Given the description of an element on the screen output the (x, y) to click on. 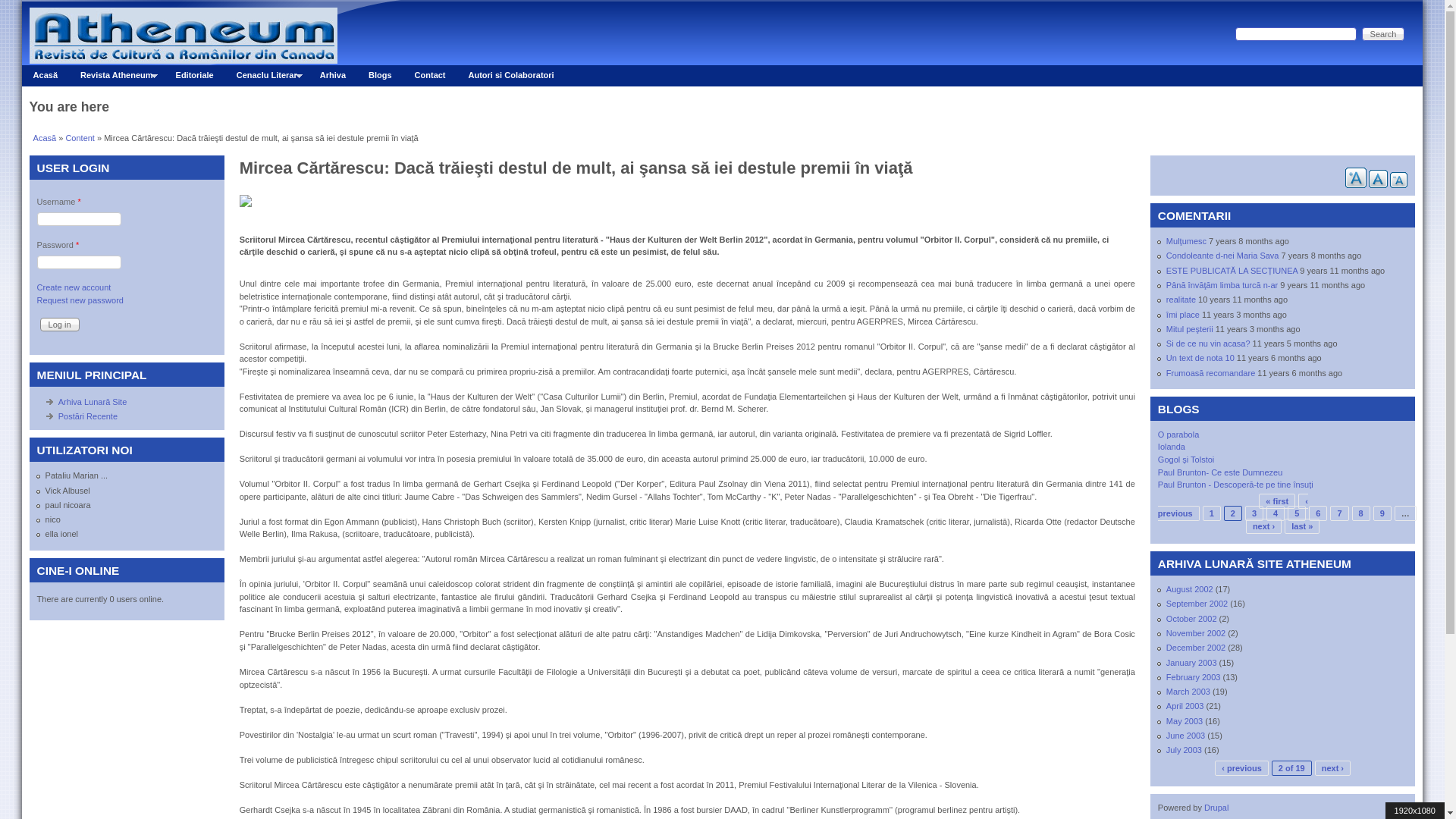
A Element type: text (1377, 178)
June 2003 Element type: text (1185, 735)
Search Element type: text (1383, 33)
December 2002 Element type: text (1195, 647)
October 2002 Element type: text (1191, 618)
6 Element type: text (1317, 512)
1 Element type: text (1211, 512)
Content Element type: text (79, 137)
Enter the terms you wish to search for. Element type: hover (1294, 33)
February 2003 Element type: text (1193, 676)
May 2003 Element type: text (1184, 720)
November 2002 Element type: text (1195, 632)
Arhiva Element type: text (332, 75)
Create new account Element type: text (74, 286)
Log in Element type: text (59, 324)
9 Element type: text (1382, 512)
O parabola Element type: text (1177, 434)
Iolanda Element type: text (1171, 446)
realitate Element type: text (1180, 299)
8 Element type: text (1360, 512)
A Element type: text (1355, 177)
September 2002 Element type: text (1196, 603)
April 2003 Element type: text (1185, 705)
Paul Brunton- Ce este Dumnezeu Element type: text (1219, 471)
Autori si Colaboratori Element type: text (511, 75)
Condoleante d-nei Maria Sava Element type: text (1222, 255)
A Element type: text (1398, 180)
Si de ce nu vin acasa? Element type: text (1208, 343)
3 Element type: text (1254, 512)
Skip to main content Element type: text (709, 0)
Editoriale Element type: text (194, 75)
Contact Element type: text (430, 75)
7 Element type: text (1338, 512)
July 2003 Element type: text (1183, 749)
4 Element type: text (1275, 512)
Un text de nota 10 Element type: text (1200, 357)
Request new password Element type: text (80, 299)
Drupal Element type: text (1216, 807)
March 2003 Element type: text (1188, 691)
5 Element type: text (1296, 512)
January 2003 Element type: text (1191, 662)
August 2002 Element type: text (1189, 588)
Blogs Element type: text (380, 75)
